Given the description of an element on the screen output the (x, y) to click on. 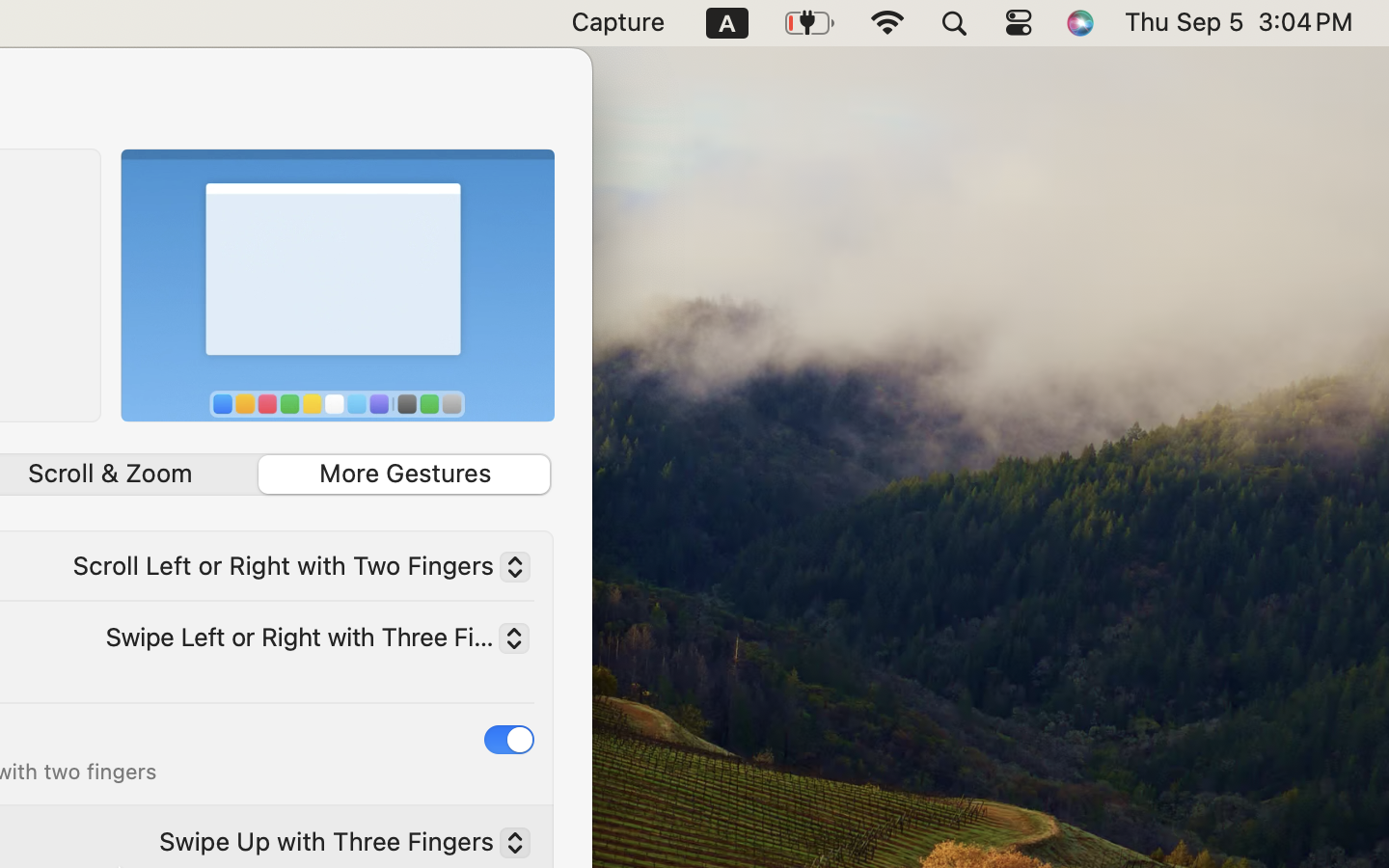
Scroll Left or Right with Two Fingers Element type: AXPopUpButton (293, 569)
Swipe Left or Right with Three Fingers Element type: AXPopUpButton (310, 641)
